Given the description of an element on the screen output the (x, y) to click on. 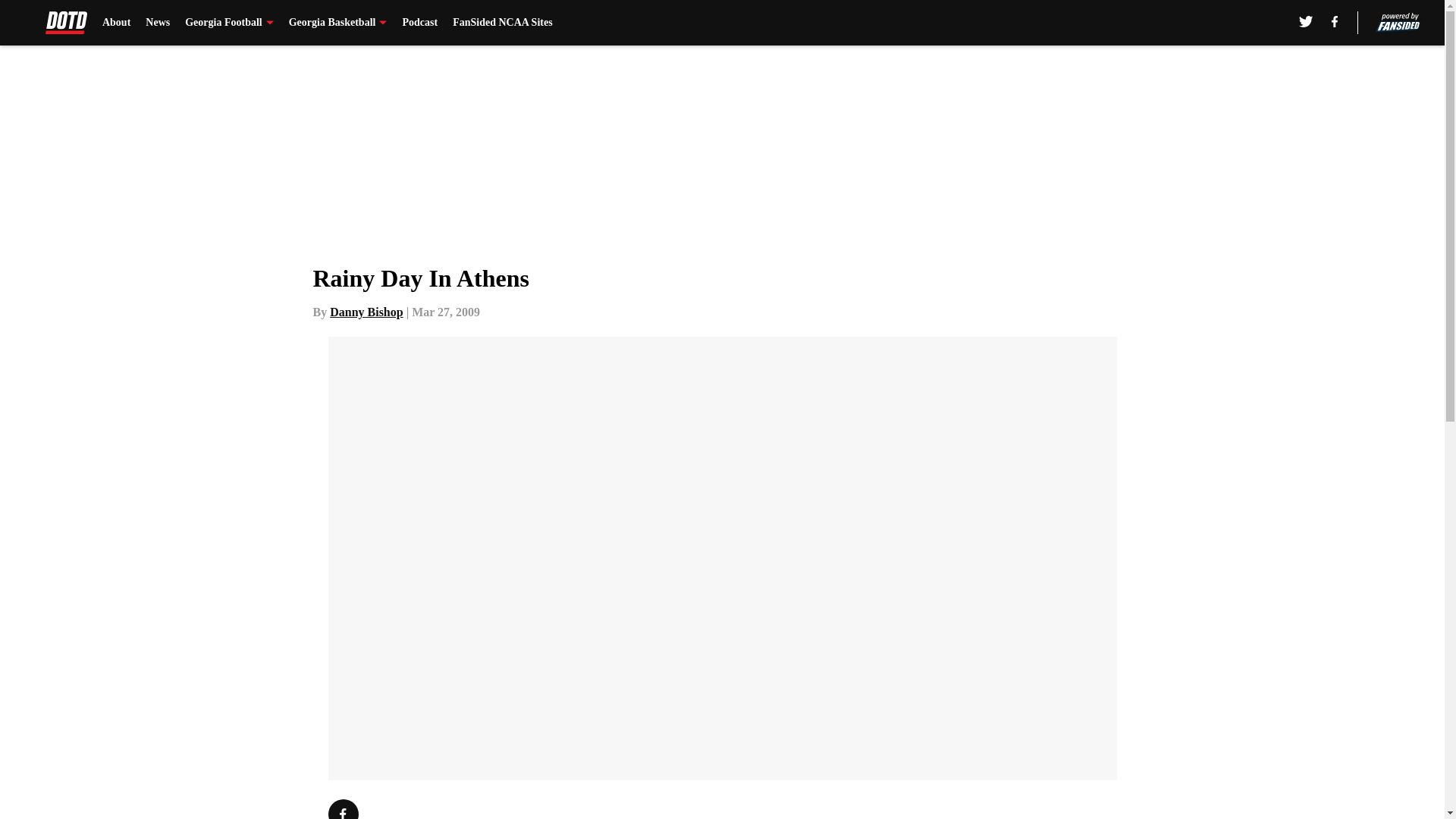
About (116, 22)
Podcast (419, 22)
News (157, 22)
FanSided NCAA Sites (501, 22)
Danny Bishop (366, 311)
